Given the description of an element on the screen output the (x, y) to click on. 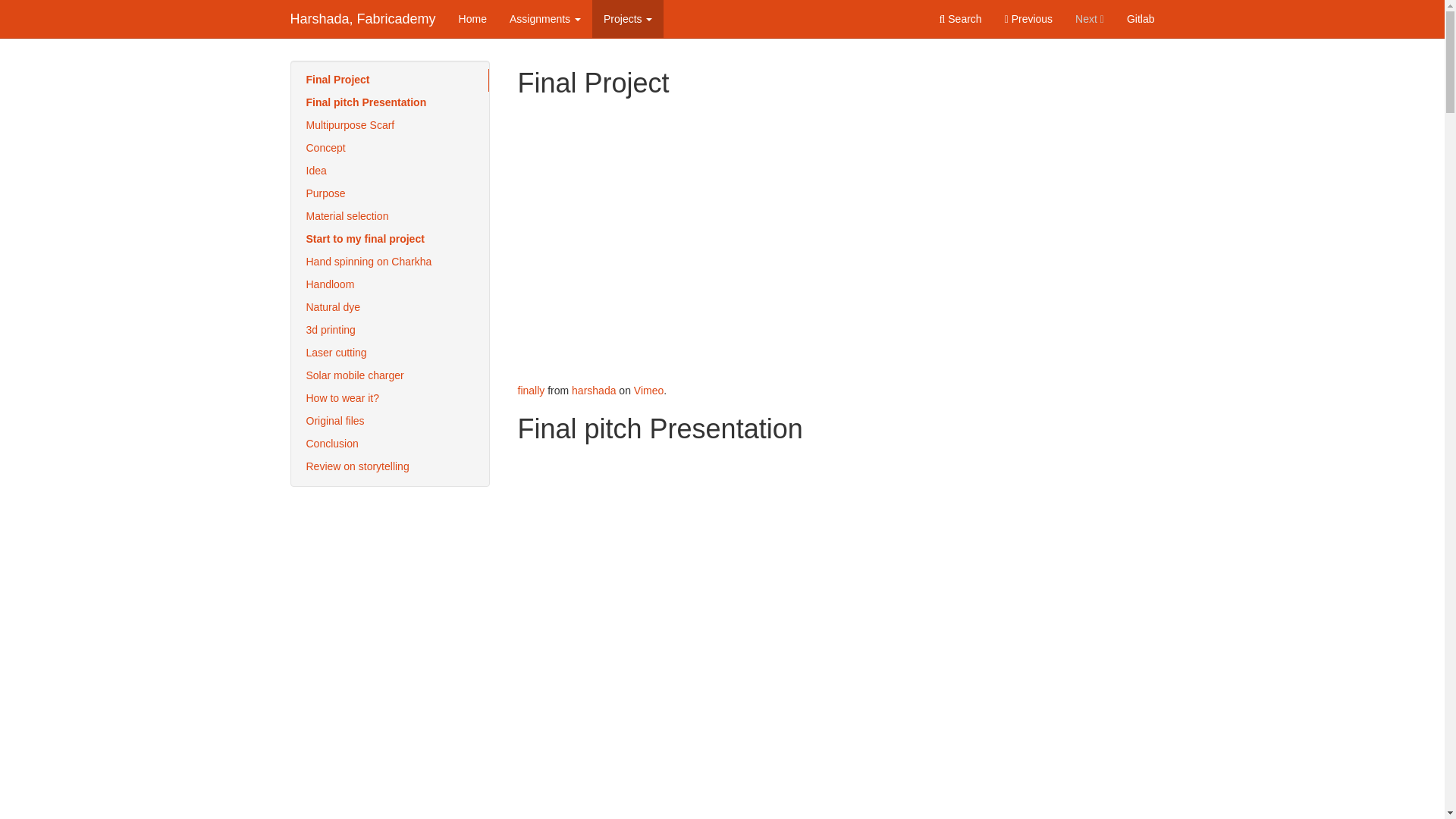
Final pitch Presentation (390, 102)
Previous (1028, 18)
Review on storytelling (390, 466)
Start to my final project (390, 239)
Projects (627, 18)
Next (1089, 18)
Material selection (390, 216)
Concept (390, 148)
Natural dye (390, 307)
Purpose (390, 193)
